Given the description of an element on the screen output the (x, y) to click on. 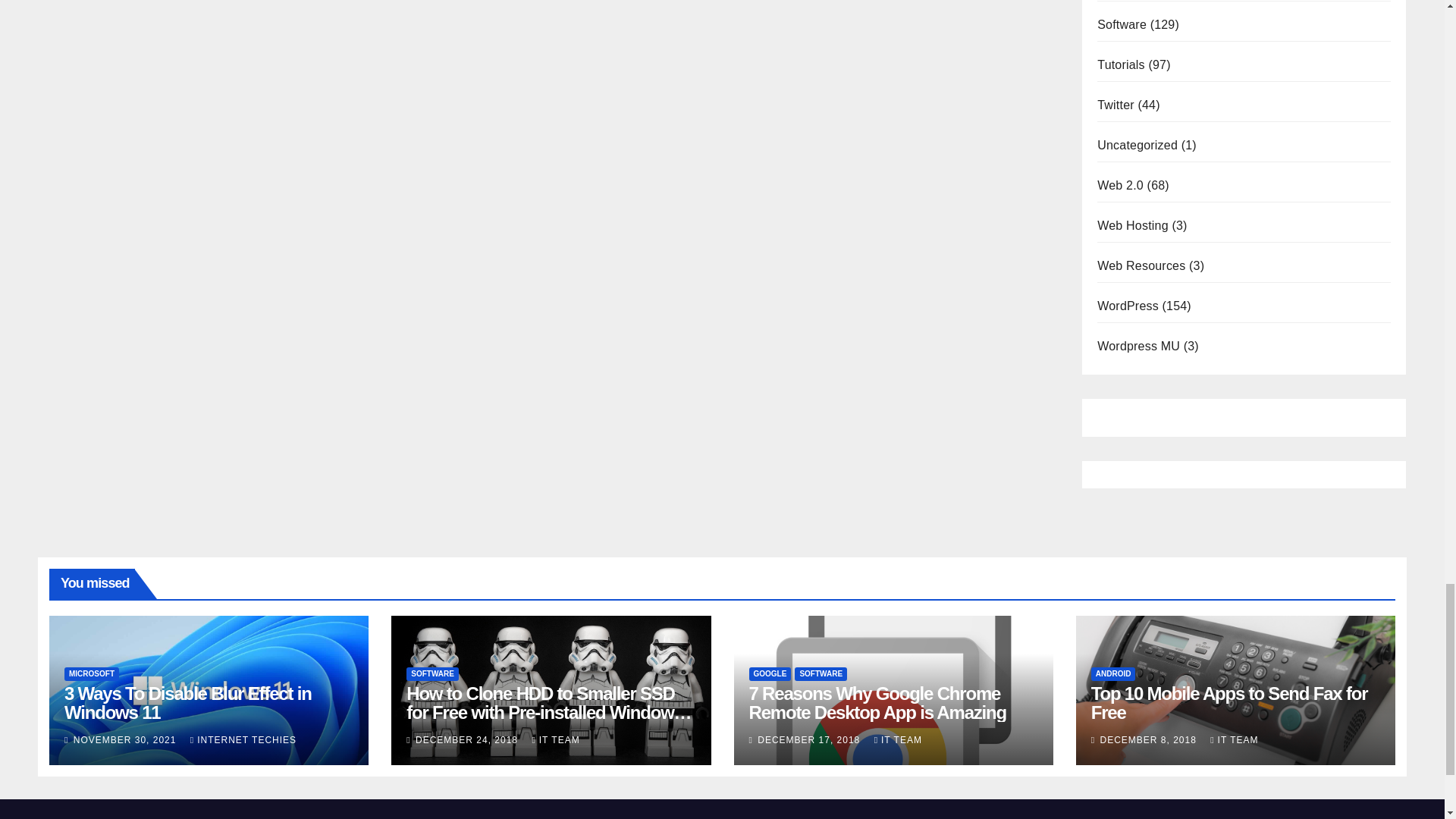
Permalink to: 3 Ways To Disable Blur Effect in Windows 11 (187, 702)
